Given the description of an element on the screen output the (x, y) to click on. 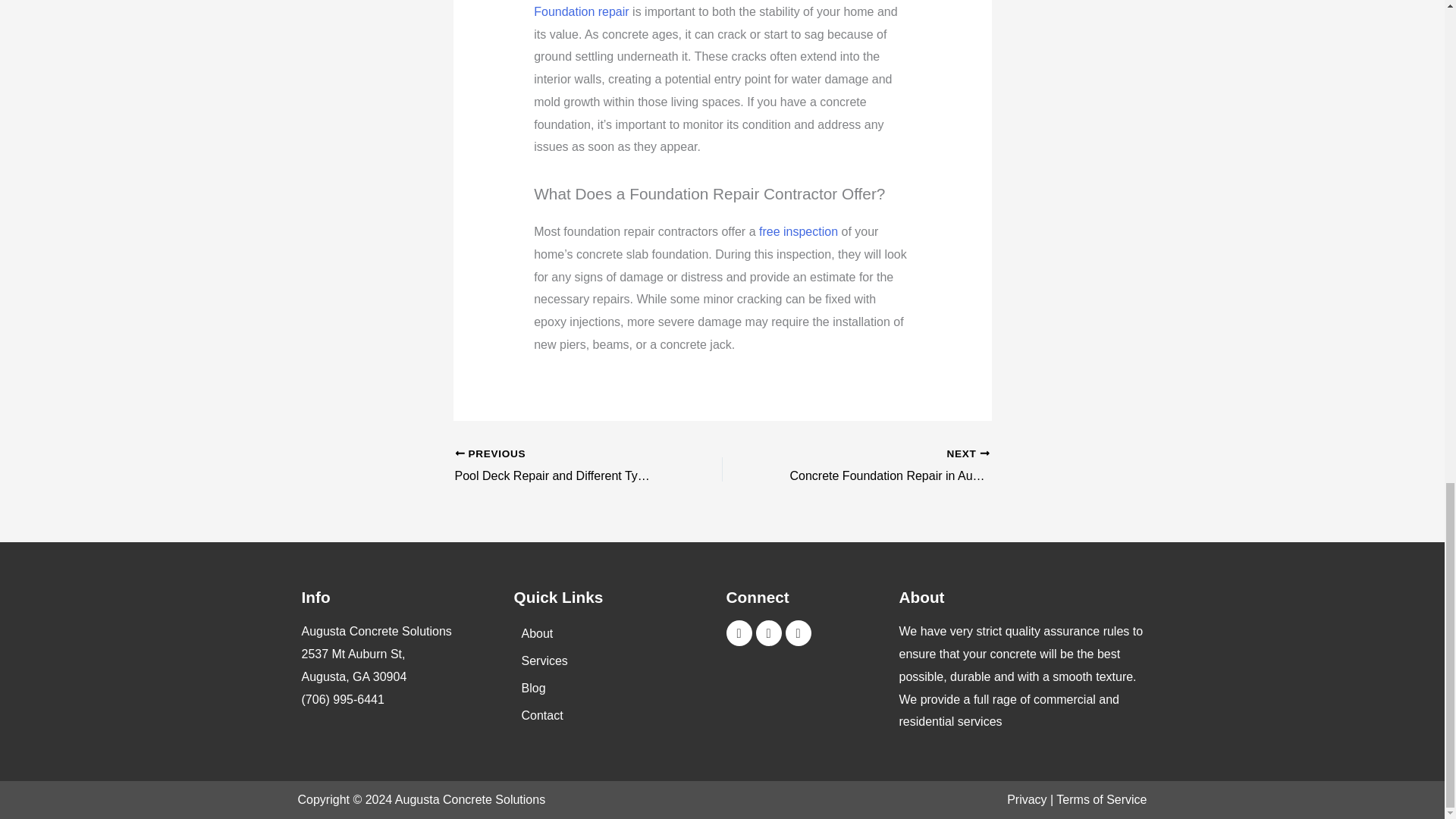
Foundation repair (581, 11)
free inspection (798, 231)
Concrete Foundation Repair in Augusta Ga (882, 466)
Pool Deck Repair and Different Types (561, 466)
